Given the description of an element on the screen output the (x, y) to click on. 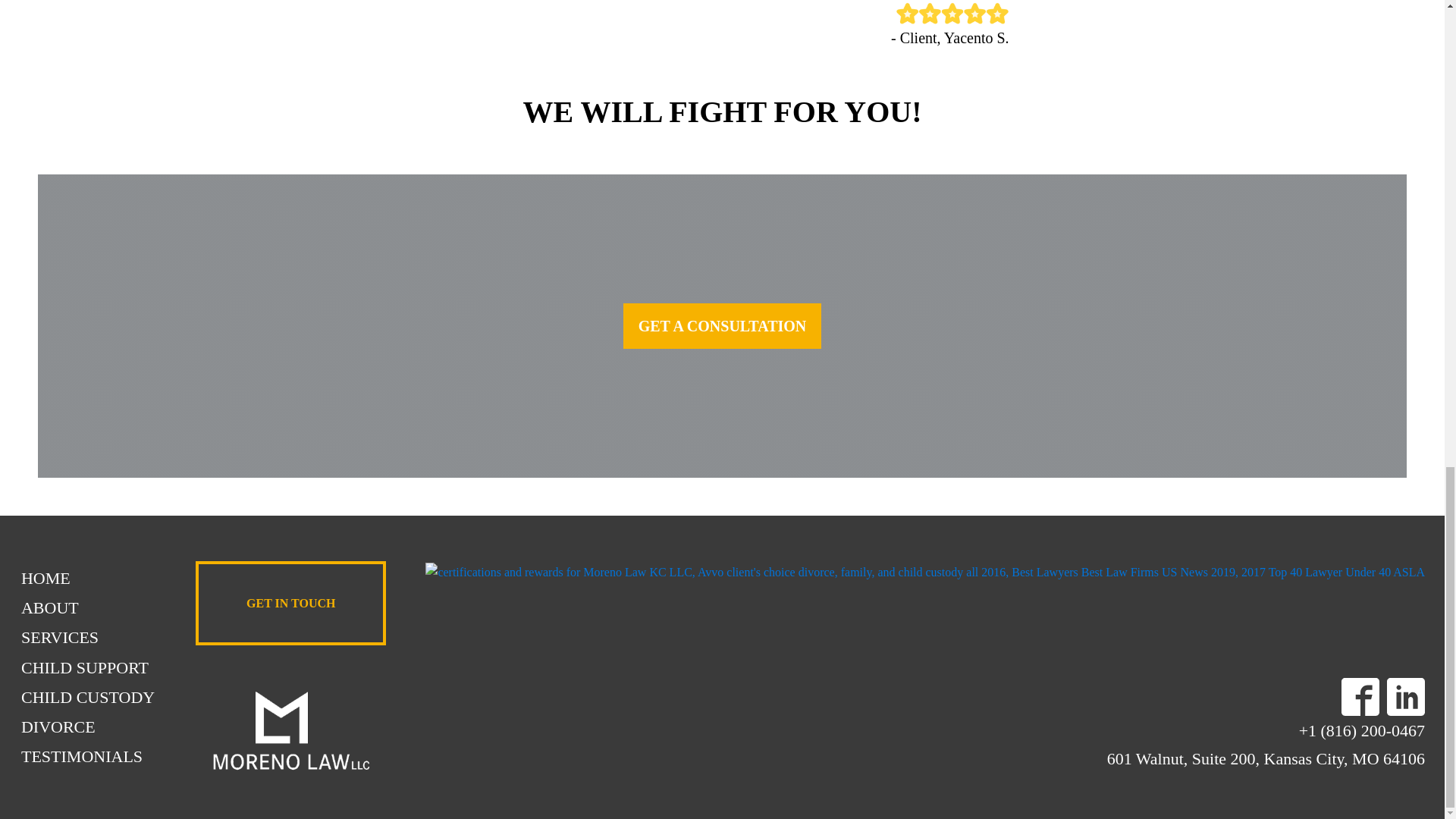
GET IN TOUCH (290, 603)
ABOUT (87, 607)
SERVICES (87, 636)
GET A CONSULTATION (722, 325)
DIVORCE (87, 726)
CHILD SUPPORT (87, 667)
TESTIMONIALS (87, 756)
CHILD CUSTODY (87, 696)
HOME (87, 577)
